Given the description of an element on the screen output the (x, y) to click on. 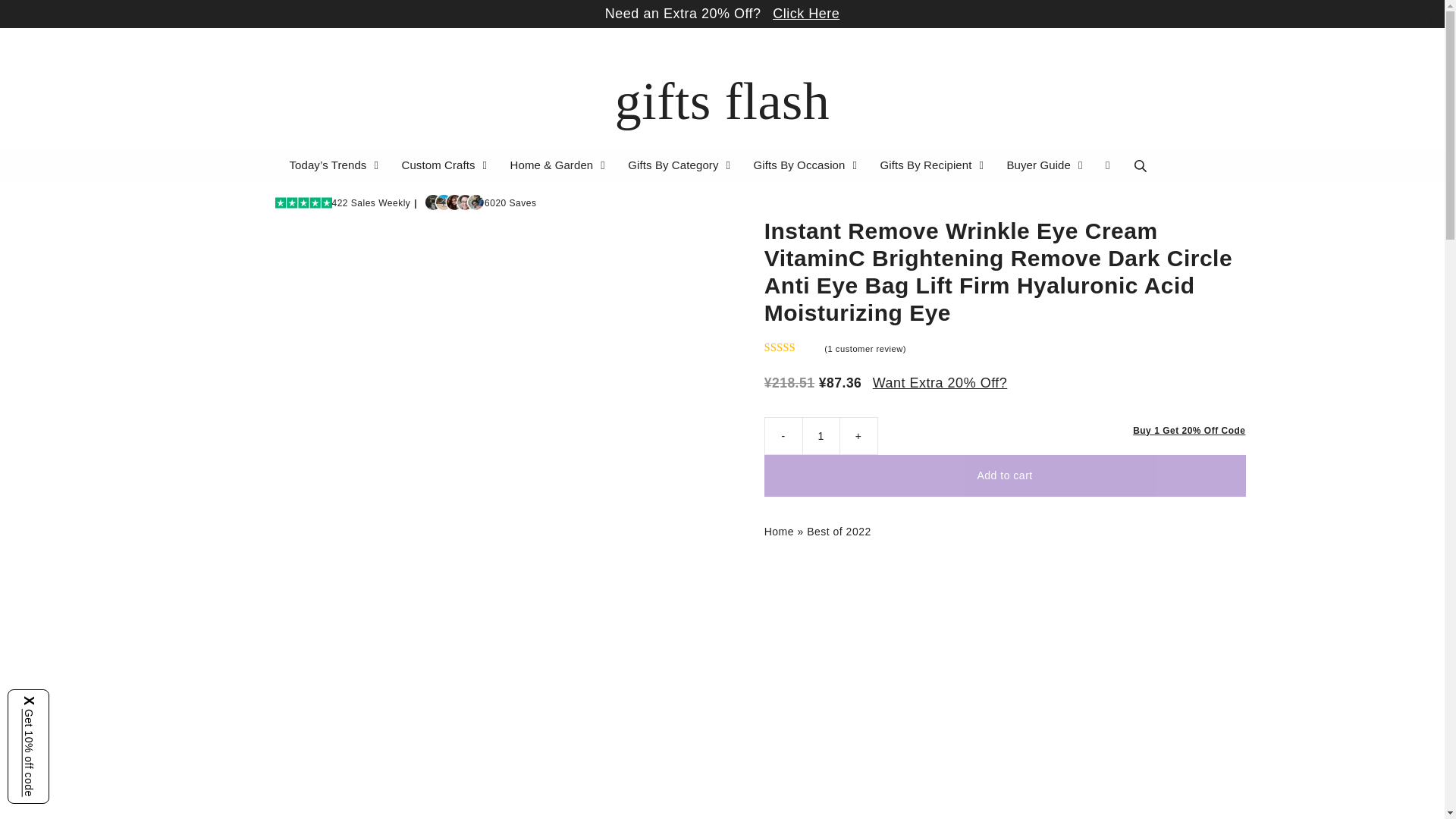
Click Here (806, 13)
Custom Crafts (445, 164)
1 (821, 435)
Rated 5.00 out of 5 (793, 347)
gifts flash (721, 101)
